Given the description of an element on the screen output the (x, y) to click on. 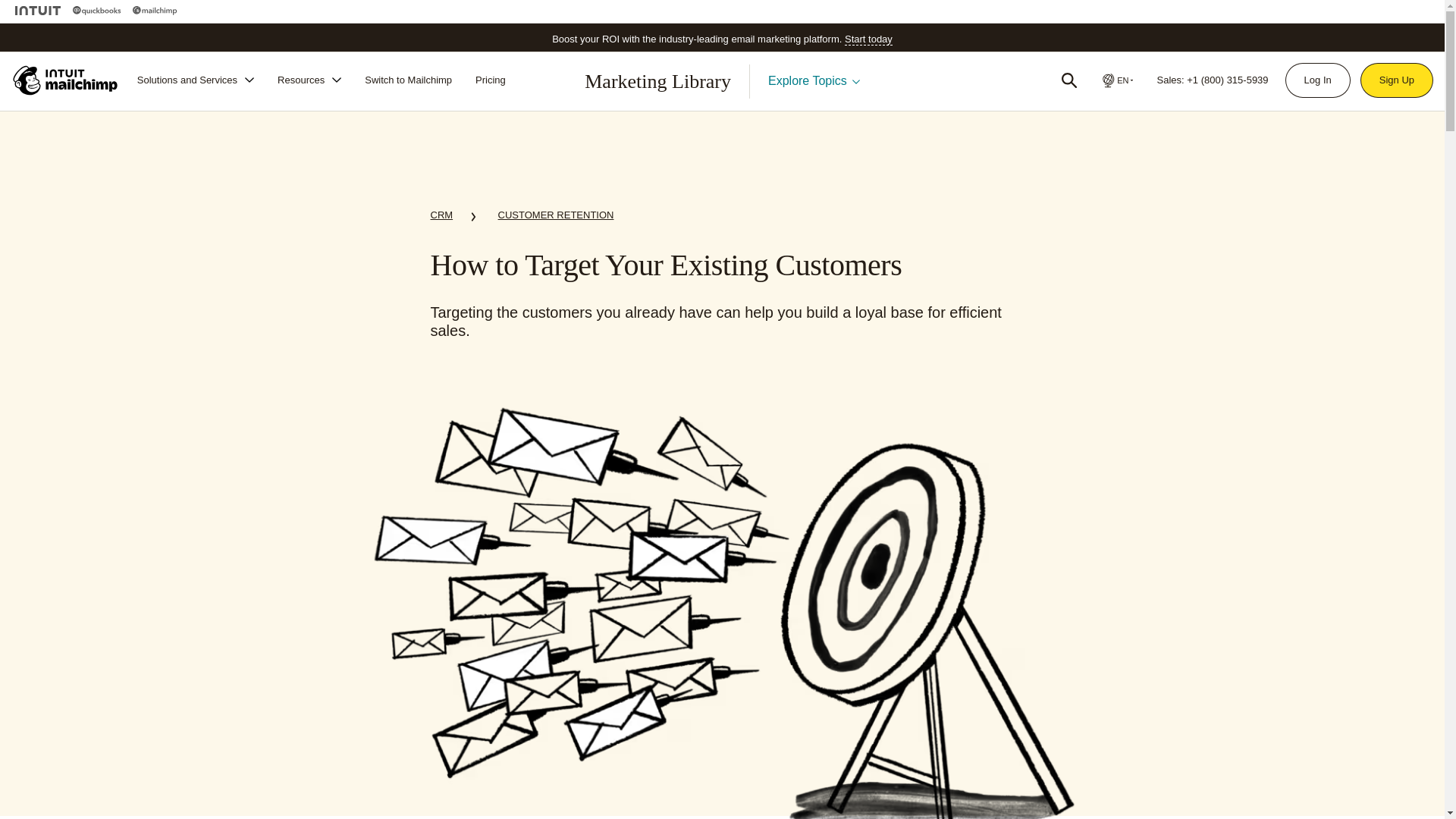
CRM (441, 217)
Resources (308, 79)
Sign Up (1396, 80)
Solutions and Services (195, 79)
Switch to Mailchimp (408, 79)
Pricing (490, 79)
Start today (868, 39)
Explore Topics (814, 80)
Search (1069, 80)
Marketing Library (657, 81)
Log In (1317, 80)
